Given the description of an element on the screen output the (x, y) to click on. 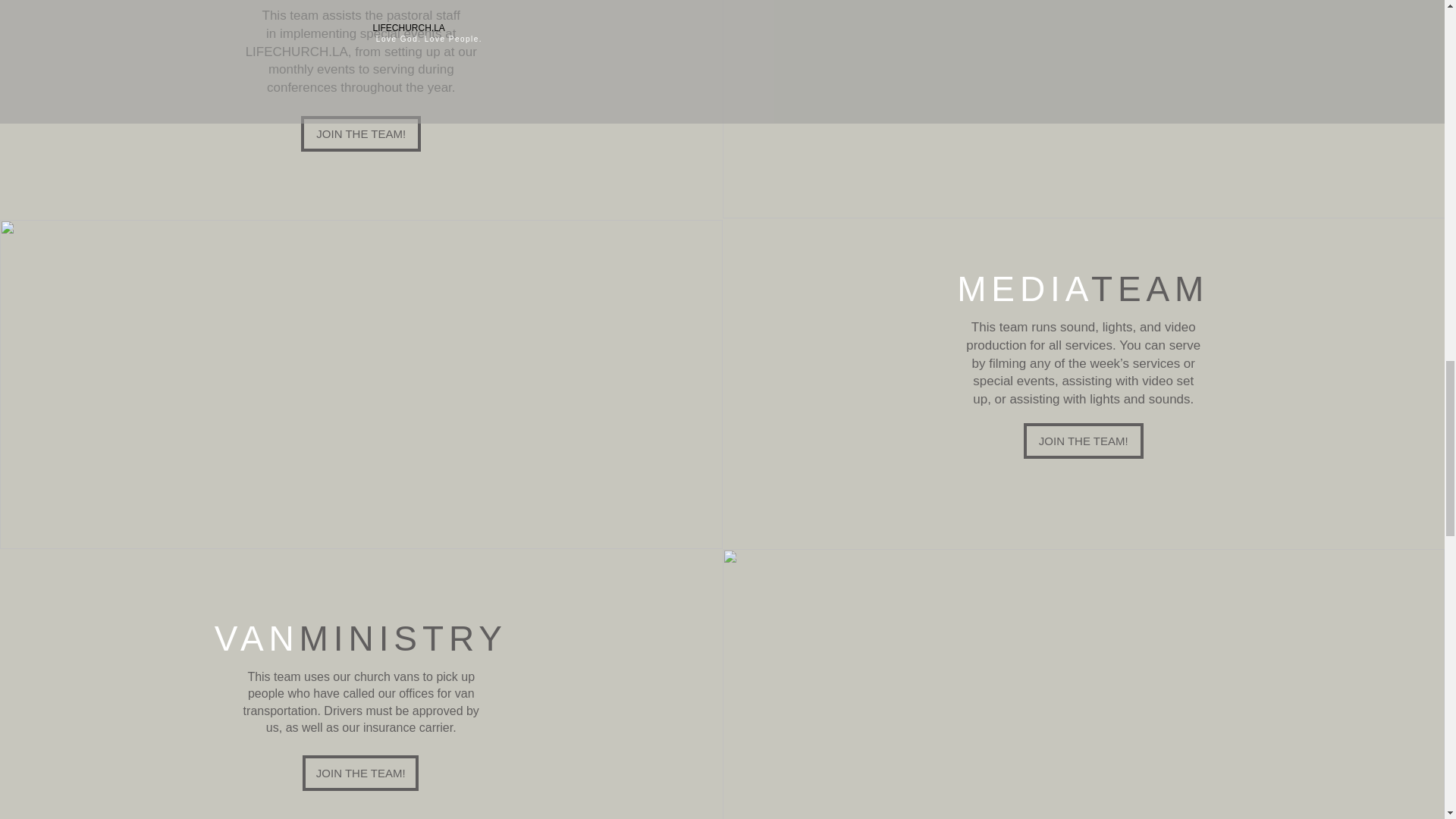
JOIN THE TEAM! (360, 773)
JOIN THE TEAM! (1082, 440)
JOIN THE TEAM! (360, 133)
